Given the description of an element on the screen output the (x, y) to click on. 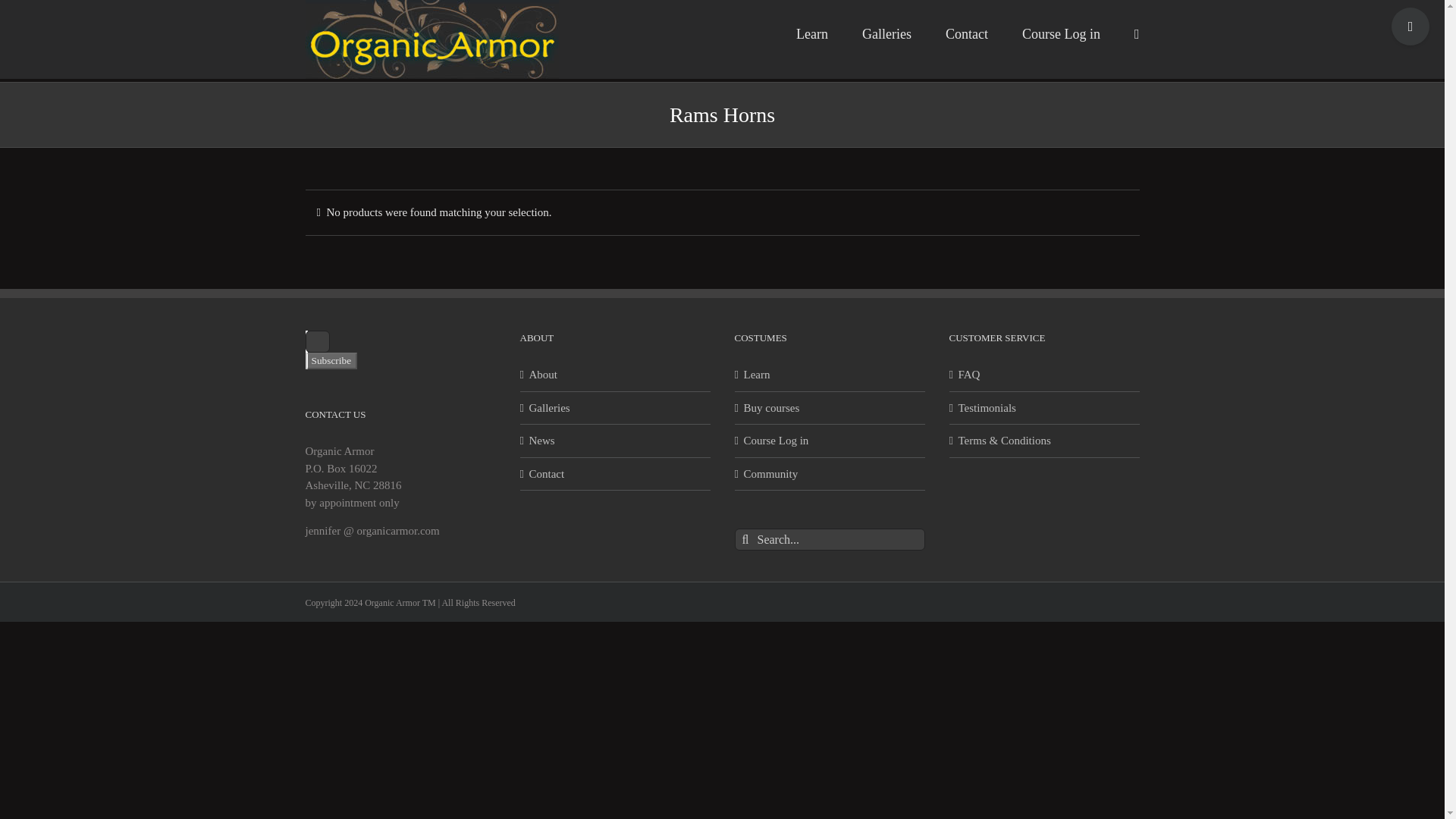
Course Log in (829, 440)
Galleries (616, 407)
Subscribe (330, 360)
News (616, 440)
Contact (616, 474)
About (616, 375)
FAQ (1045, 375)
Contact (966, 32)
Testimonials (1045, 407)
Course Log in (1061, 32)
Toggle Sliding Bar Area (1410, 26)
Learn (812, 32)
Learn (829, 375)
Community (829, 474)
Galleries (886, 32)
